Given the description of an element on the screen output the (x, y) to click on. 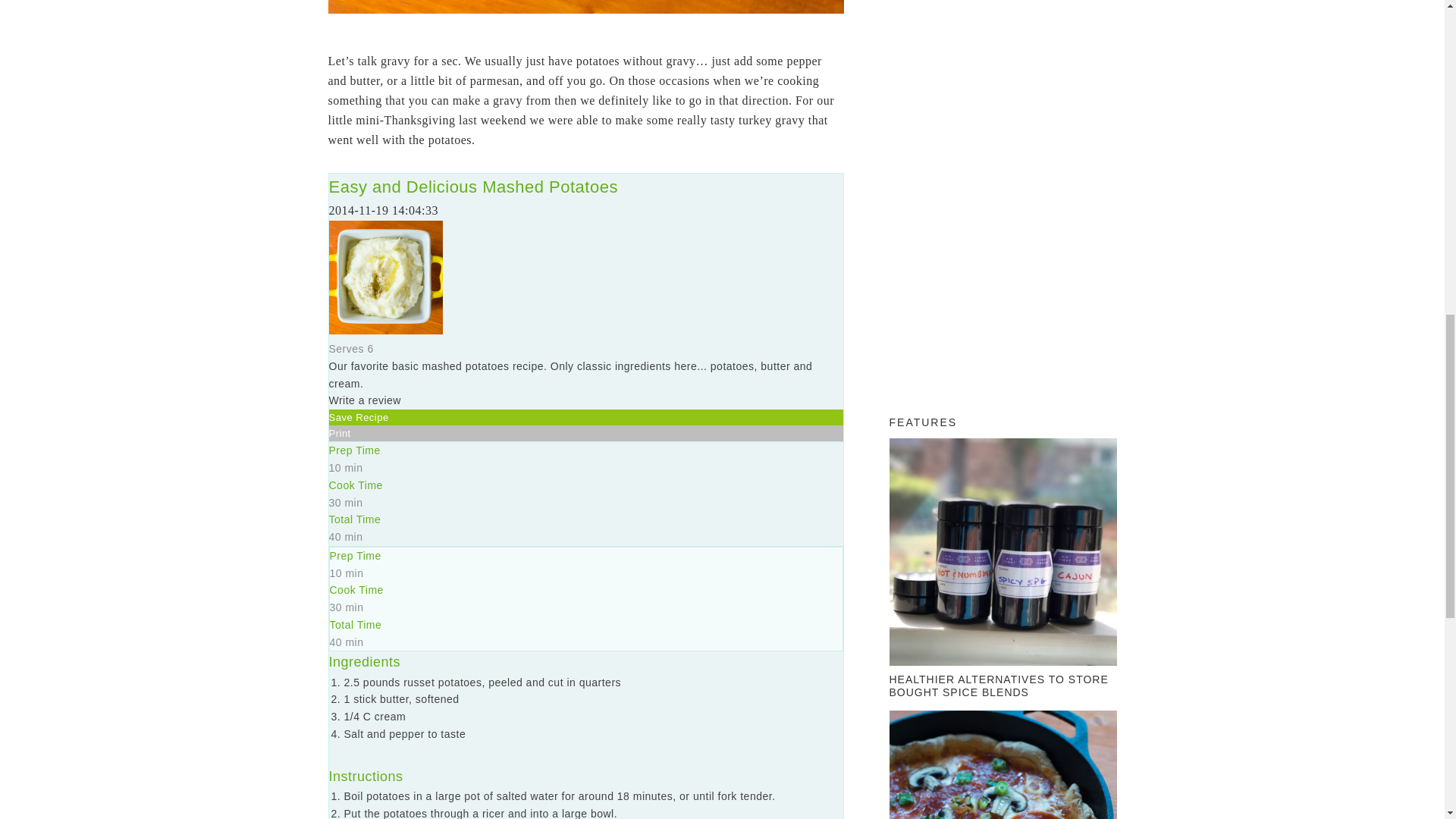
Healthier Alternatives to Store Bought Spice Blends (998, 685)
Healthier Alternatives to Store Bought Spice Blends (1002, 555)
Homemade Buffalo Chicken Pan Pizza (1002, 764)
Save Recipe (358, 417)
